Given the description of an element on the screen output the (x, y) to click on. 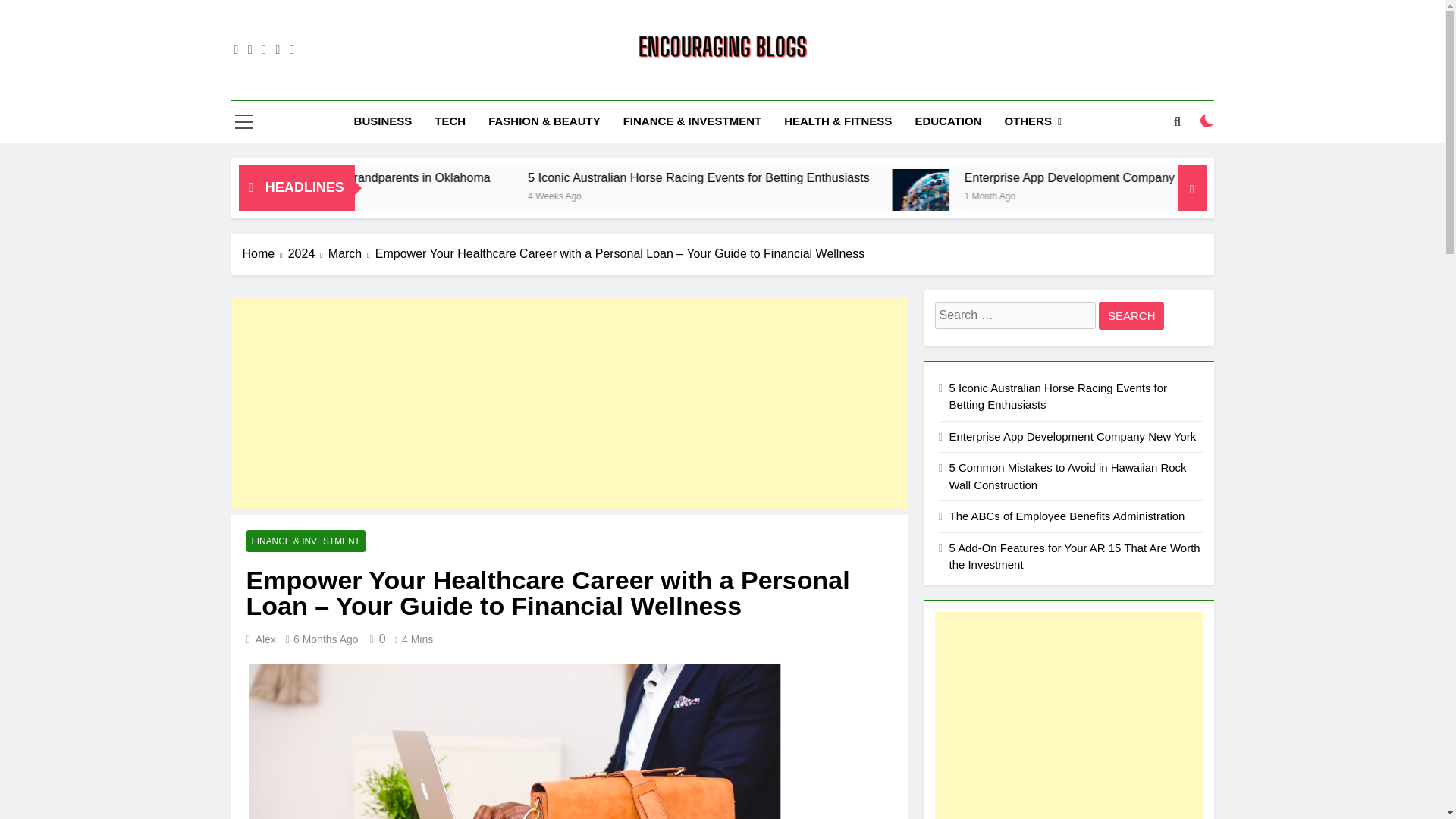
4 Months Ago (373, 195)
Search (1131, 316)
EDUCATION (947, 120)
4 Weeks Ago (795, 195)
Enterprise App Development Company New York (1109, 197)
Enterprise App Development Company New York (1275, 177)
TECH (450, 120)
